Given the description of an element on the screen output the (x, y) to click on. 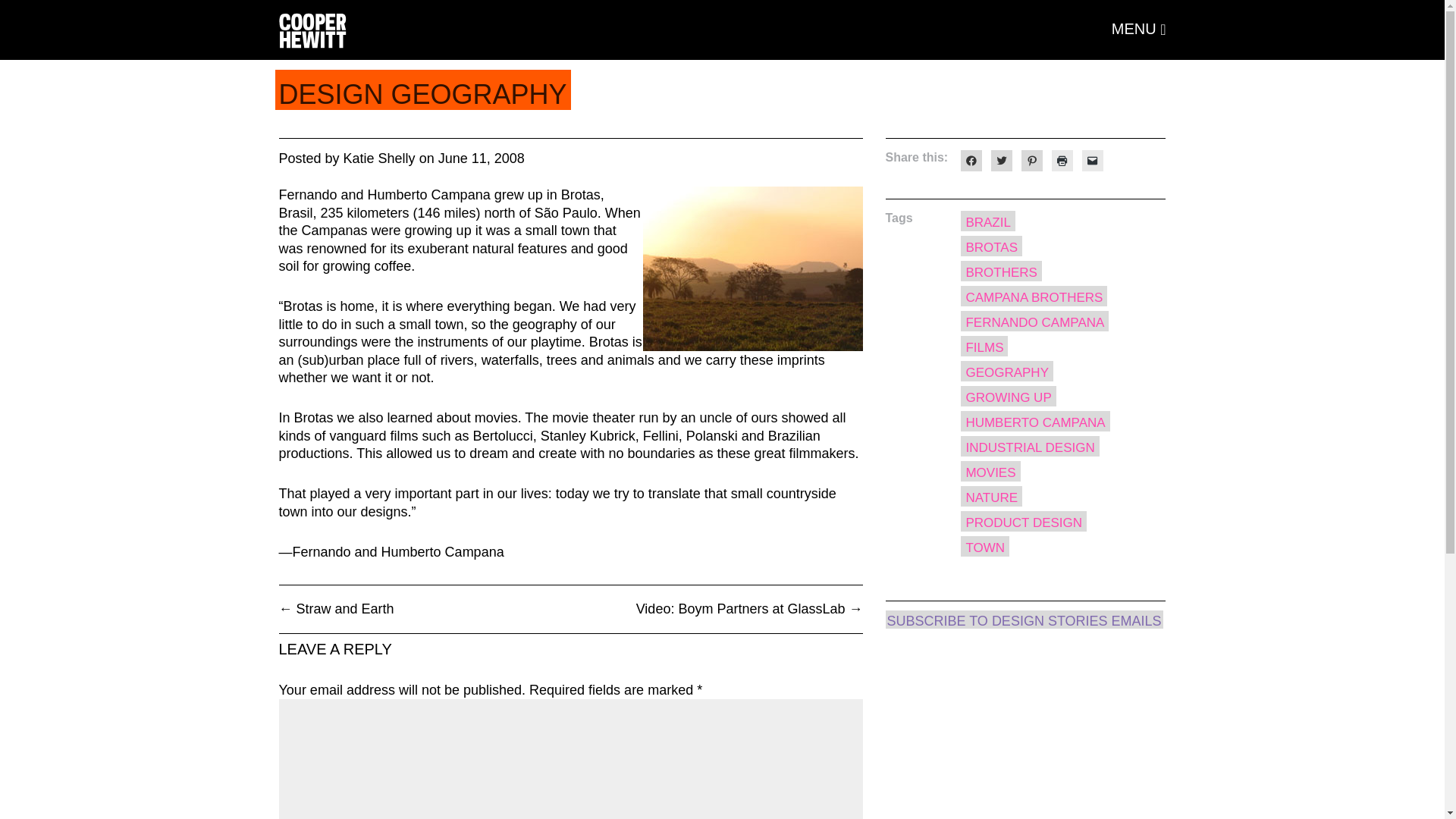
MENU (1139, 28)
Click to print (1062, 160)
Click to email a link to a friend (1092, 160)
Click to share on Facebook (970, 160)
Click to share on Pinterest (1032, 160)
Click to share on Twitter (1001, 160)
